Given the description of an element on the screen output the (x, y) to click on. 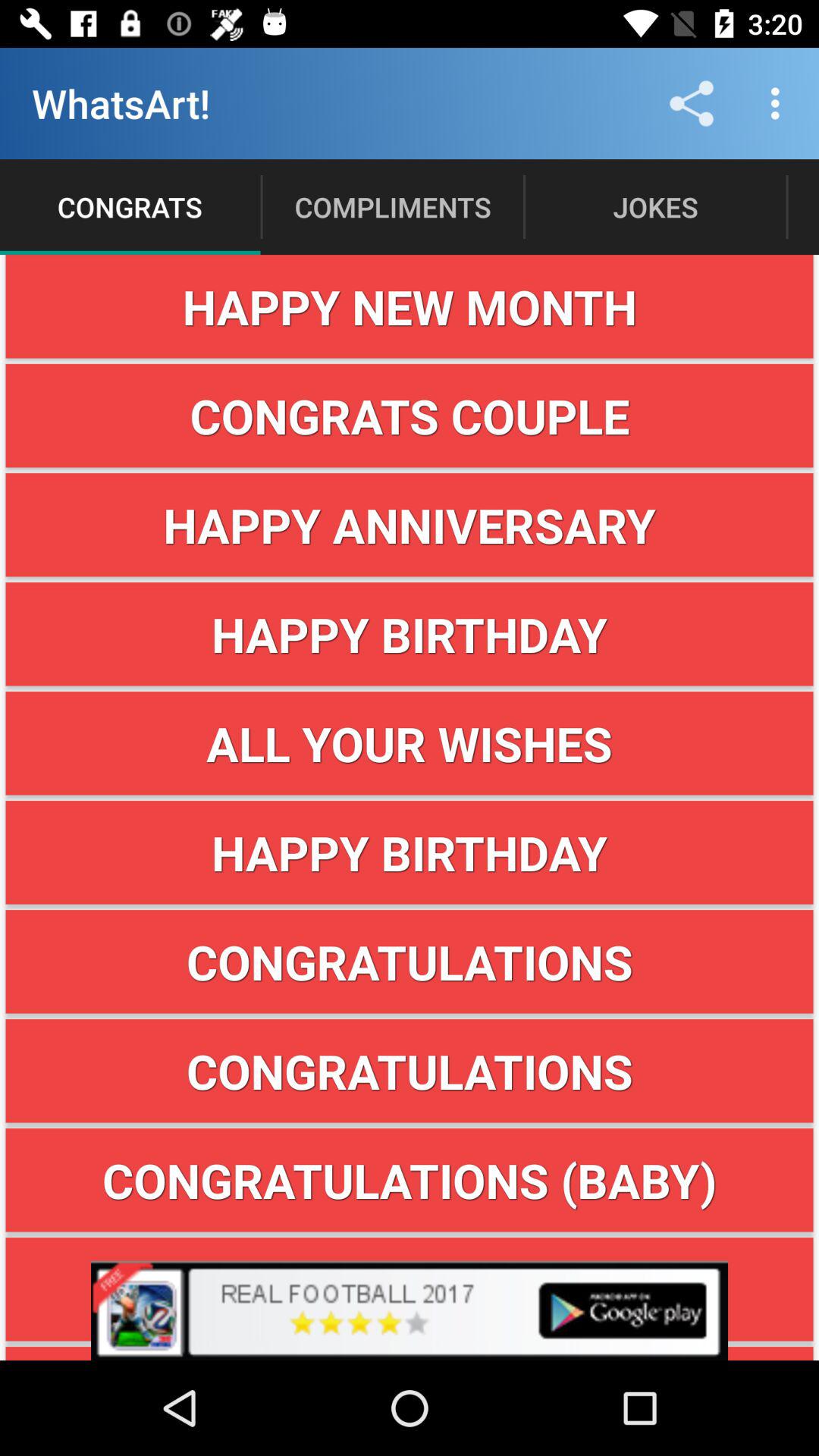
turn on item below wow icon (409, 1353)
